Given the description of an element on the screen output the (x, y) to click on. 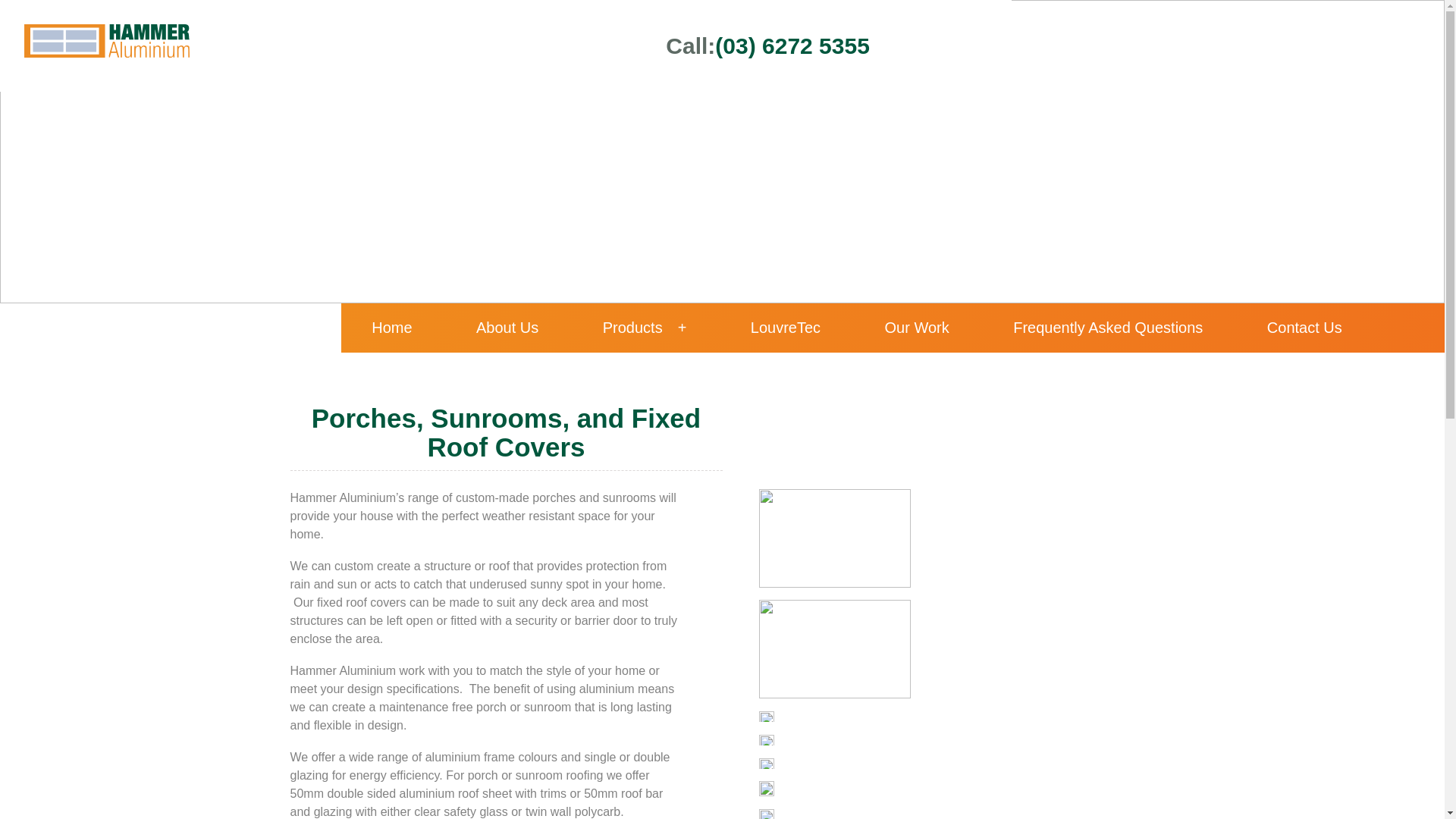
Products (644, 327)
Frequently Asked Questions (1107, 327)
About Us (507, 327)
Home (391, 327)
LouvreTec (785, 327)
Contact Us (1304, 327)
Our Work (916, 327)
